Given the description of an element on the screen output the (x, y) to click on. 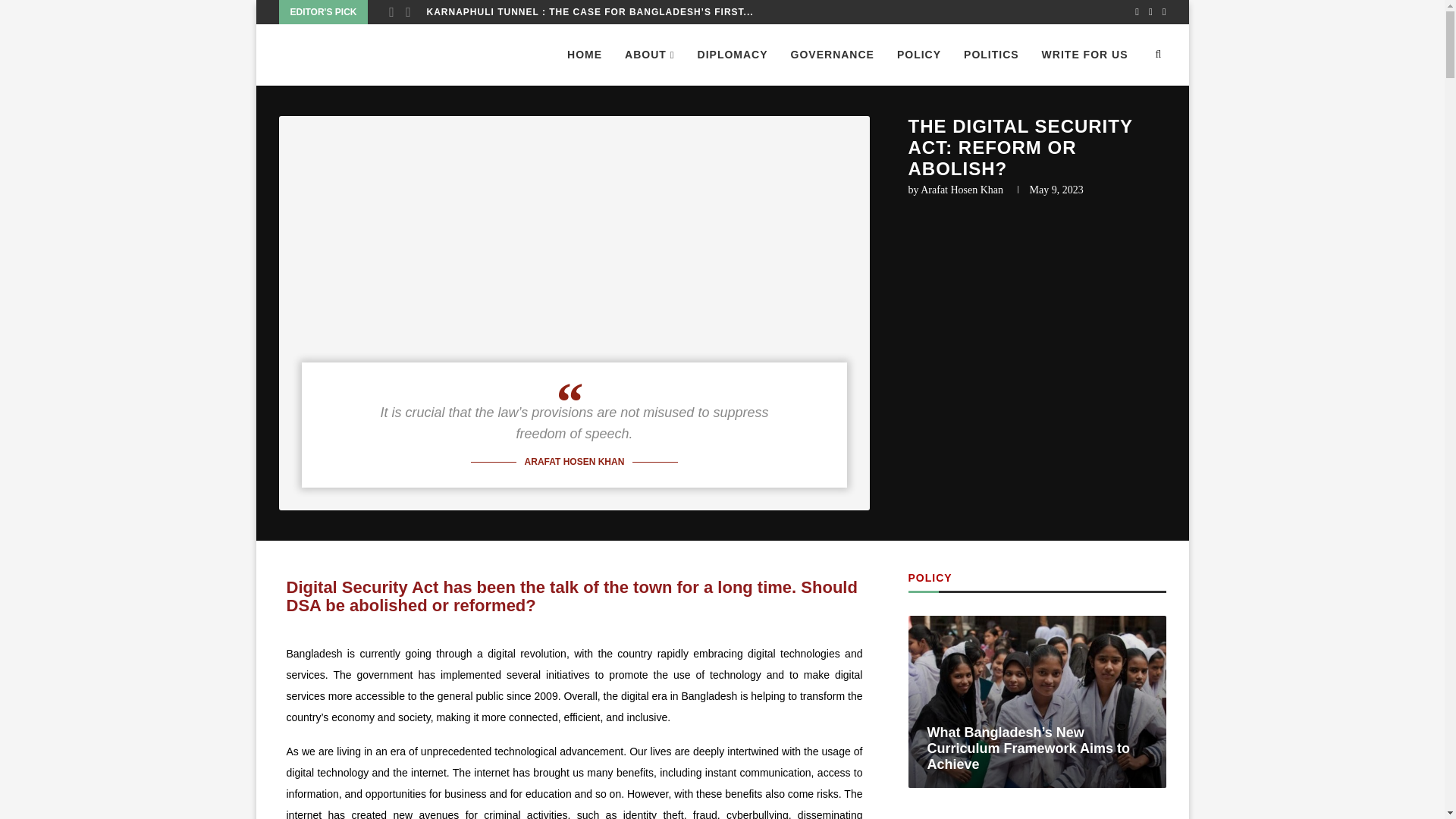
HOME (584, 54)
